Given the description of an element on the screen output the (x, y) to click on. 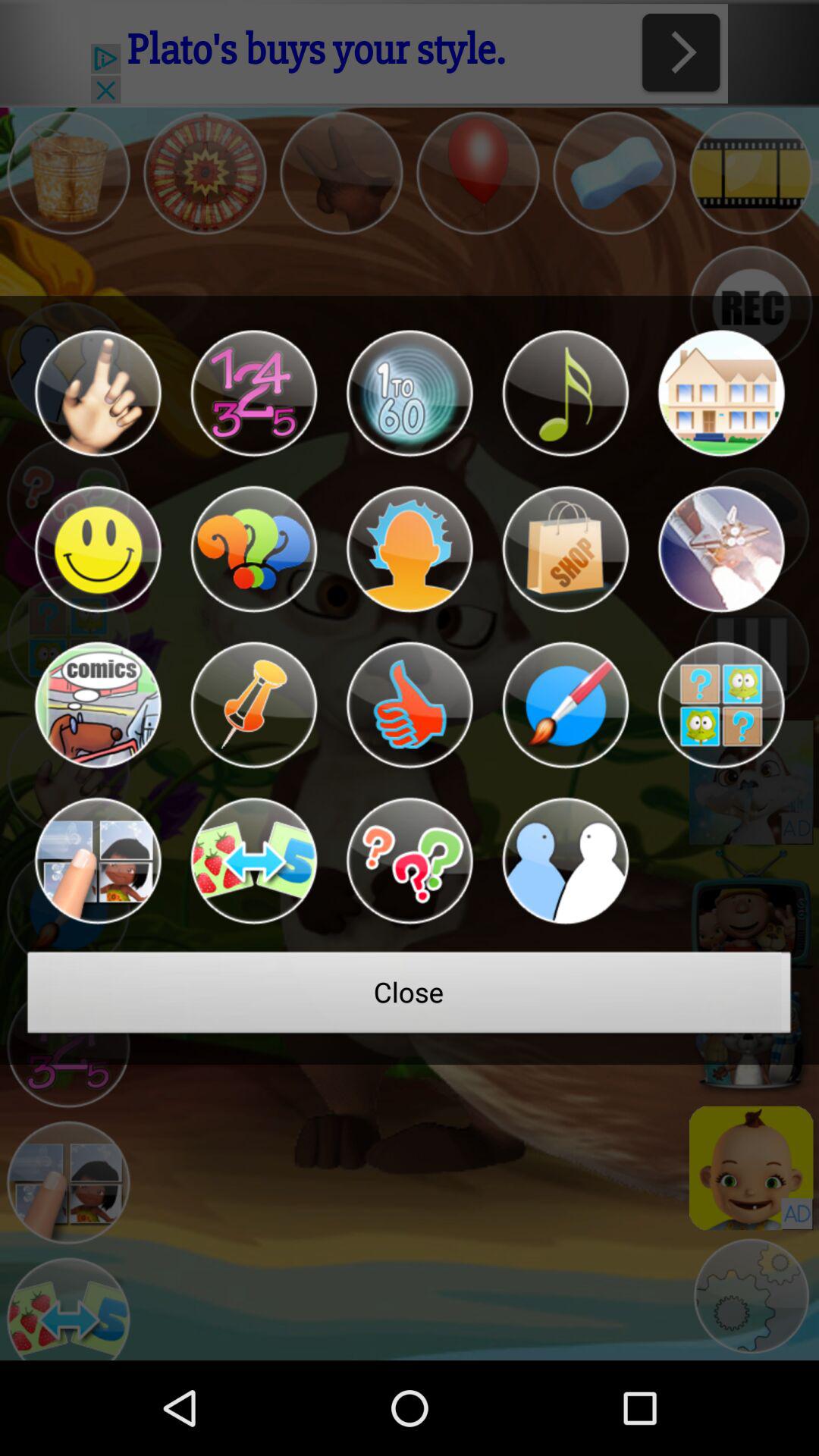
an icon with a function (721, 393)
